Given the description of an element on the screen output the (x, y) to click on. 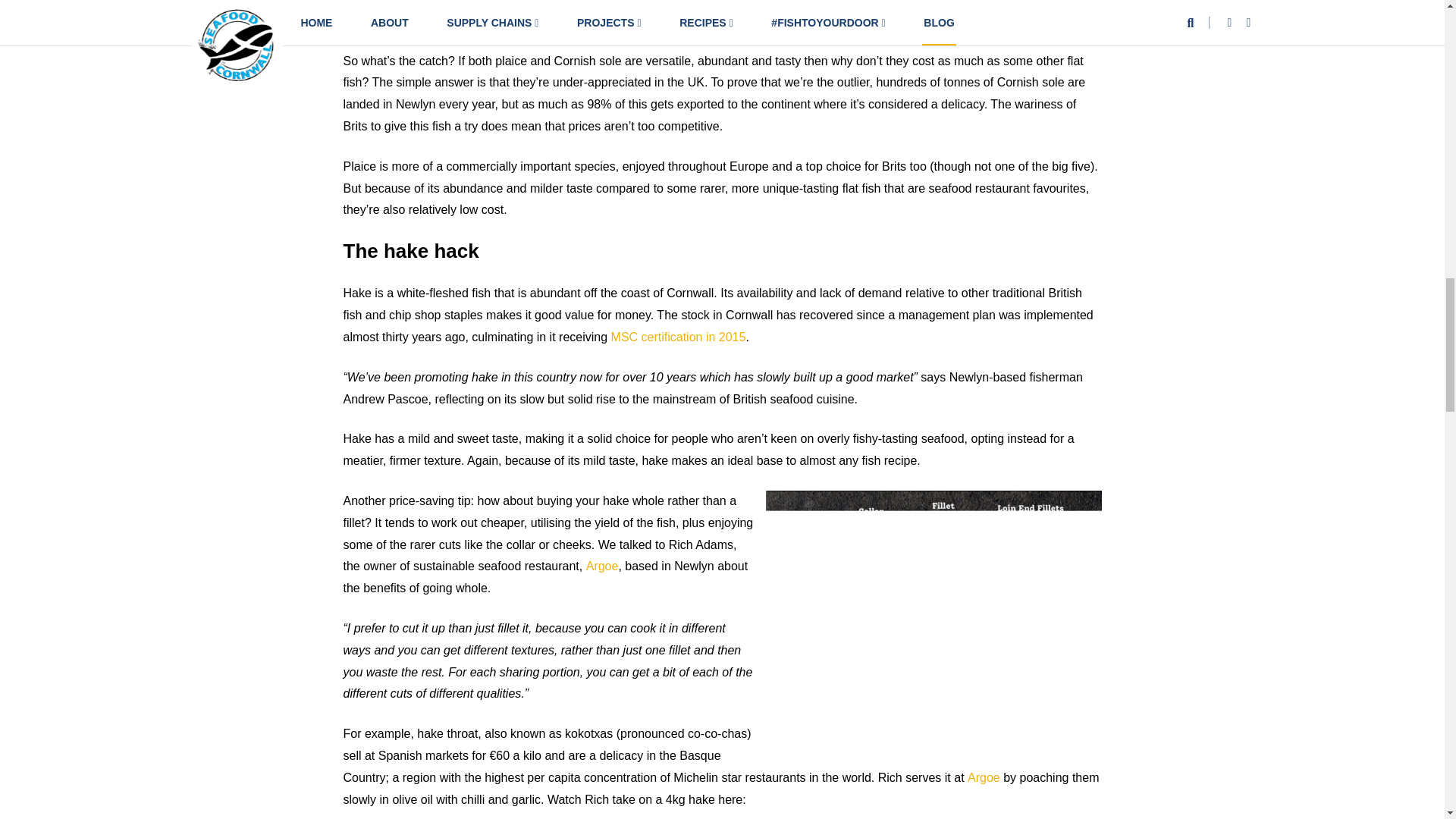
Argoe (984, 777)
MSC certification in 2015 (678, 336)
Argoe (602, 565)
